Given the description of an element on the screen output the (x, y) to click on. 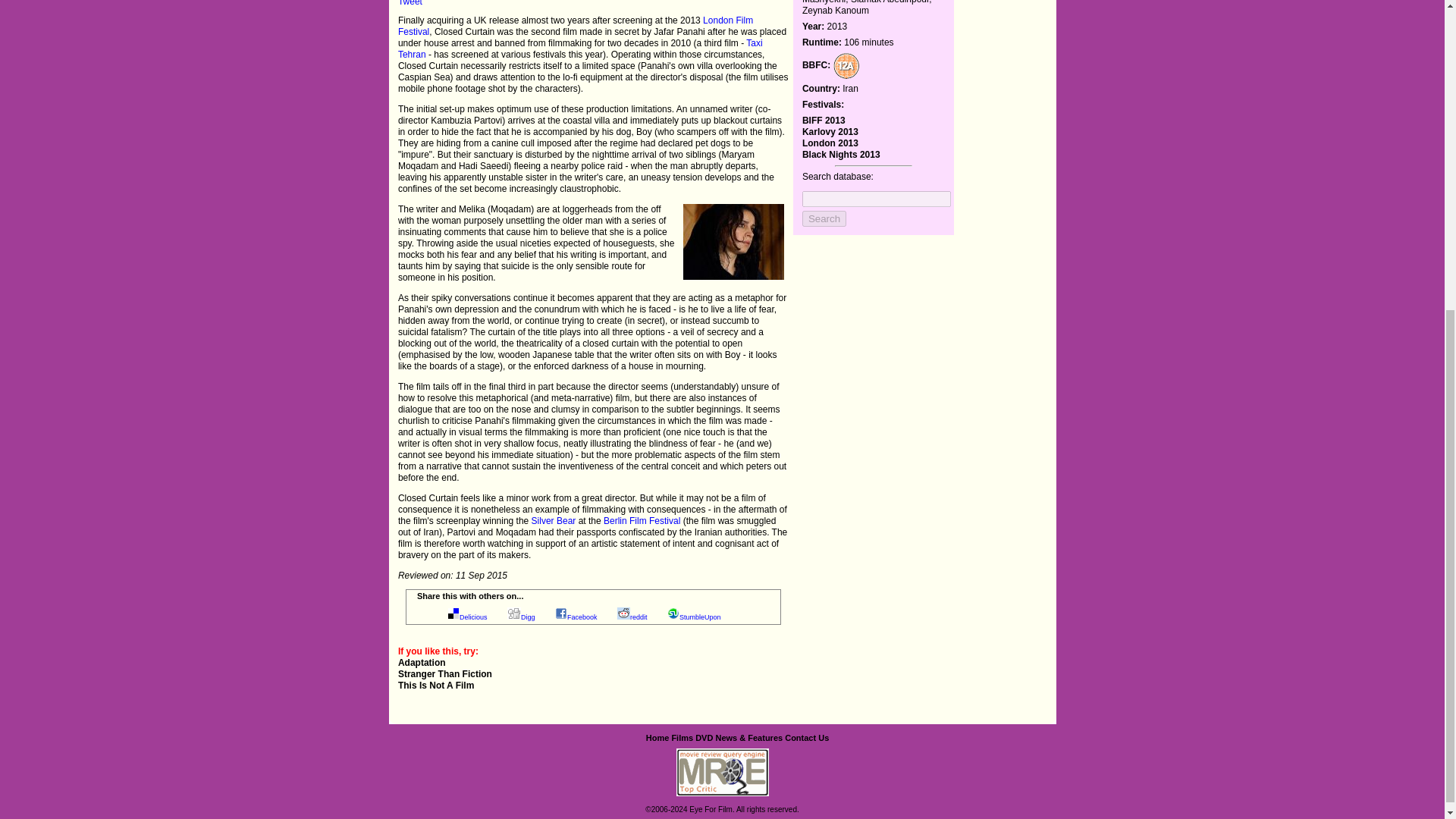
Post this to Facebook (581, 616)
Post this to StumbleUpon (699, 616)
London Film Festival (574, 25)
Post this to Digg (528, 616)
Silver Bear (553, 520)
StumbleUpon (699, 616)
Digg (528, 616)
Berlin Film Festival (641, 520)
Taxi Tehran (579, 48)
Tweet (409, 3)
Post this to Delicious (473, 616)
Delicious (473, 616)
Facebook (581, 616)
Post this to reddit (638, 616)
Search (823, 218)
